Given the description of an element on the screen output the (x, y) to click on. 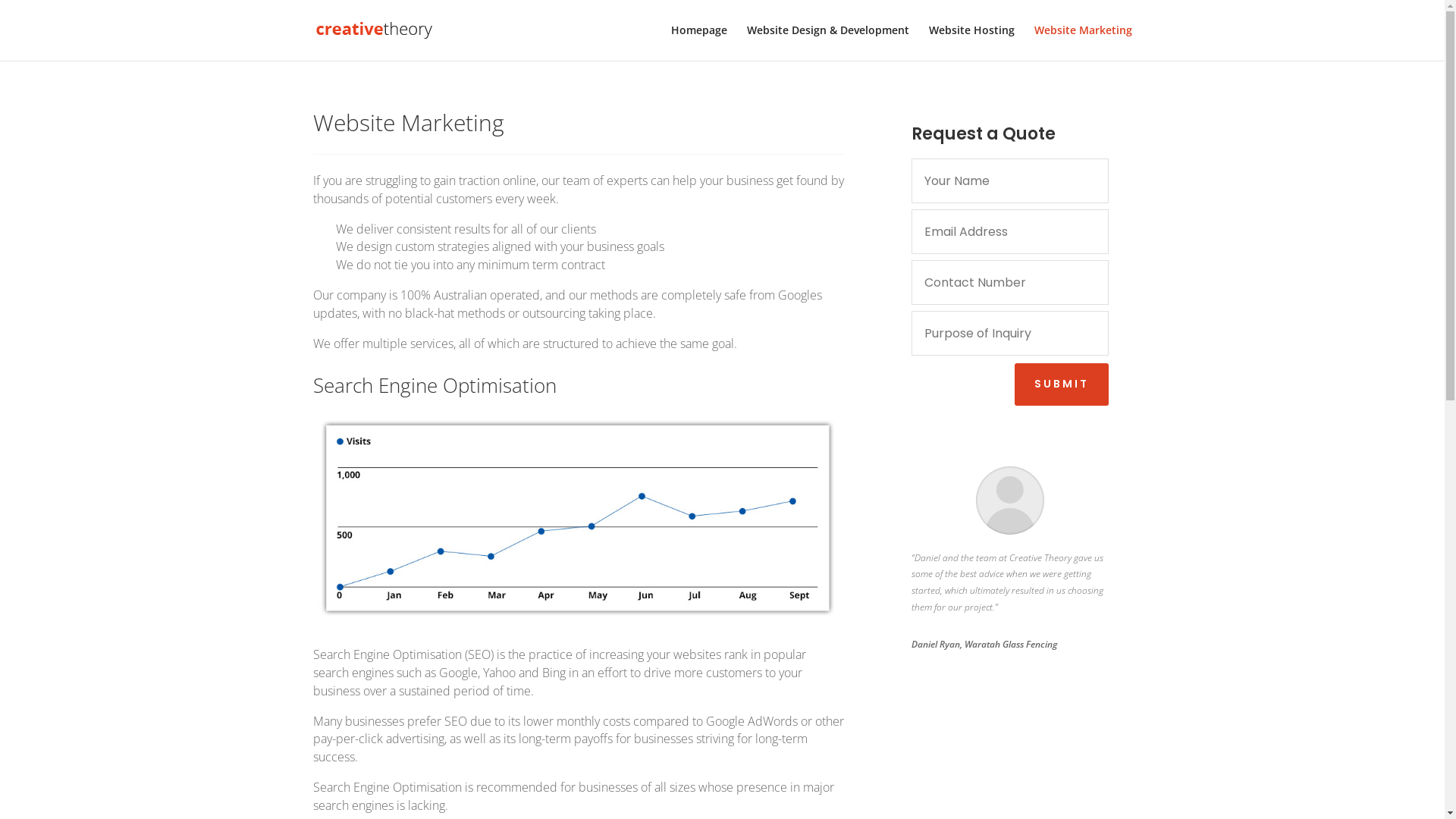
Website Marketing Element type: text (1083, 42)
Homepage Element type: text (698, 42)
Website Hosting Element type: text (970, 42)
SUBMIT Element type: text (1061, 384)
Website Design & Development Element type: text (827, 42)
Only letters allowed. Element type: hover (1009, 180)
